Given the description of an element on the screen output the (x, y) to click on. 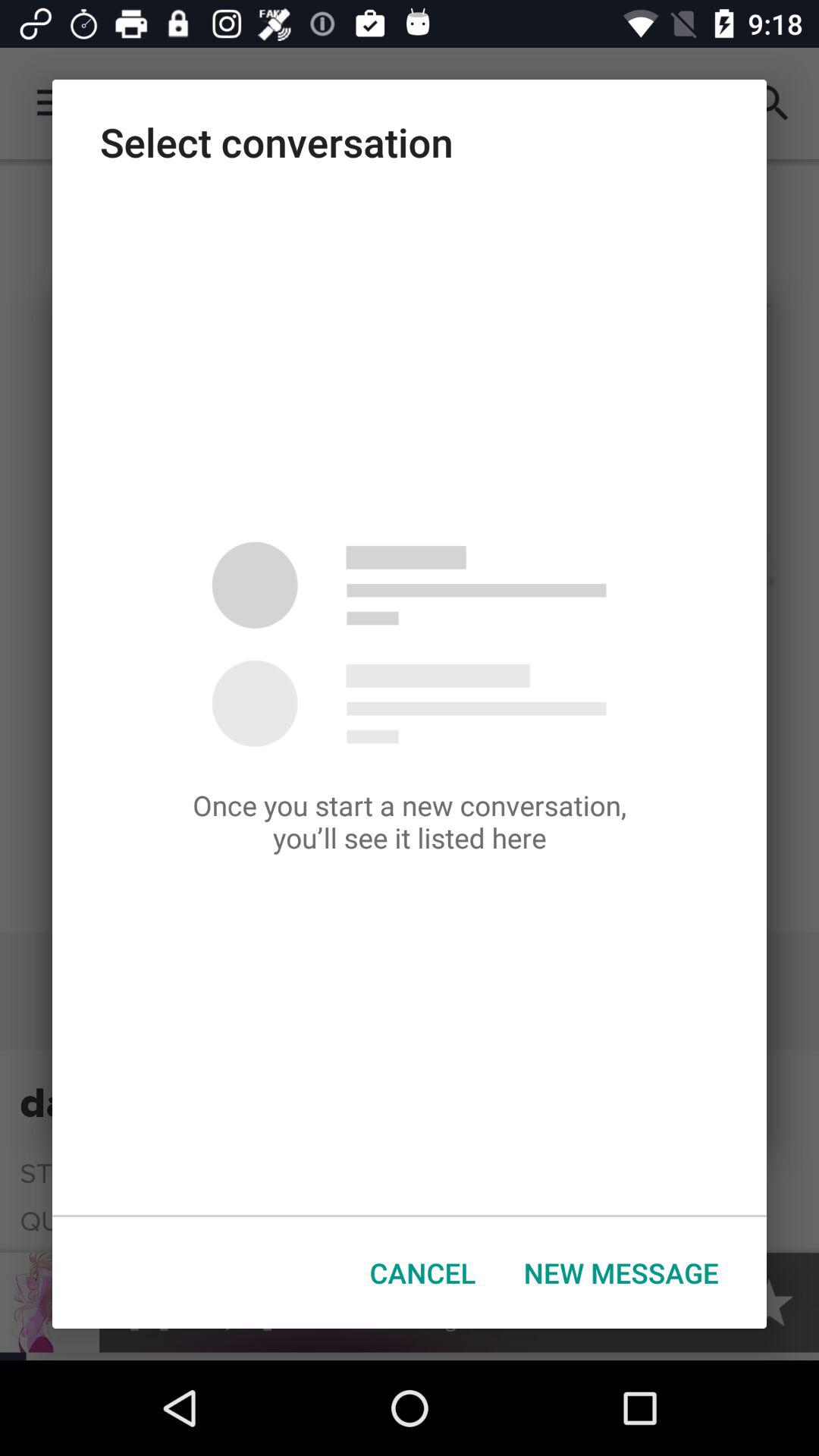
scroll until cancel icon (422, 1272)
